Given the description of an element on the screen output the (x, y) to click on. 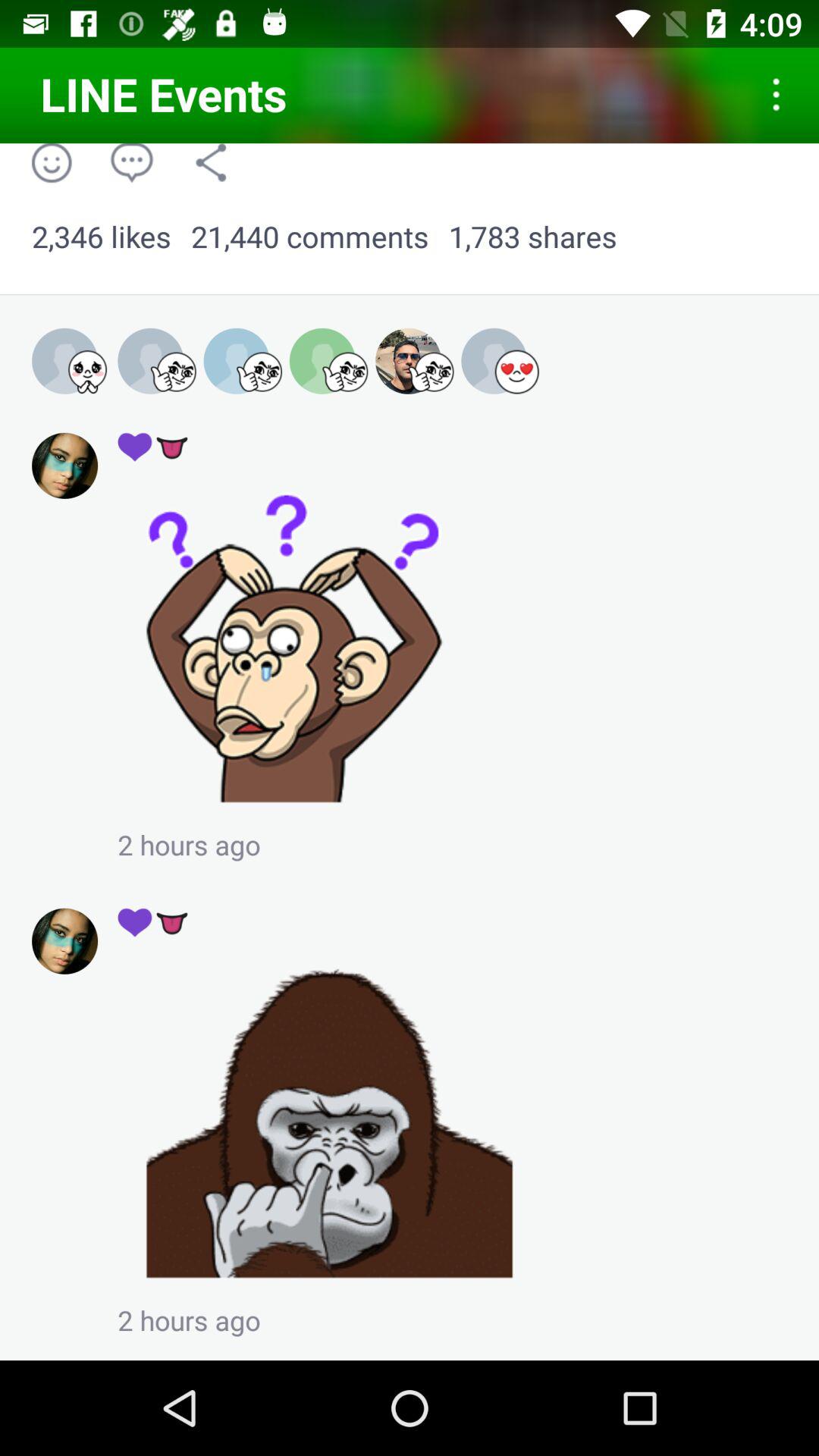
press item to the right of 2,346 likes icon (309, 237)
